Given the description of an element on the screen output the (x, y) to click on. 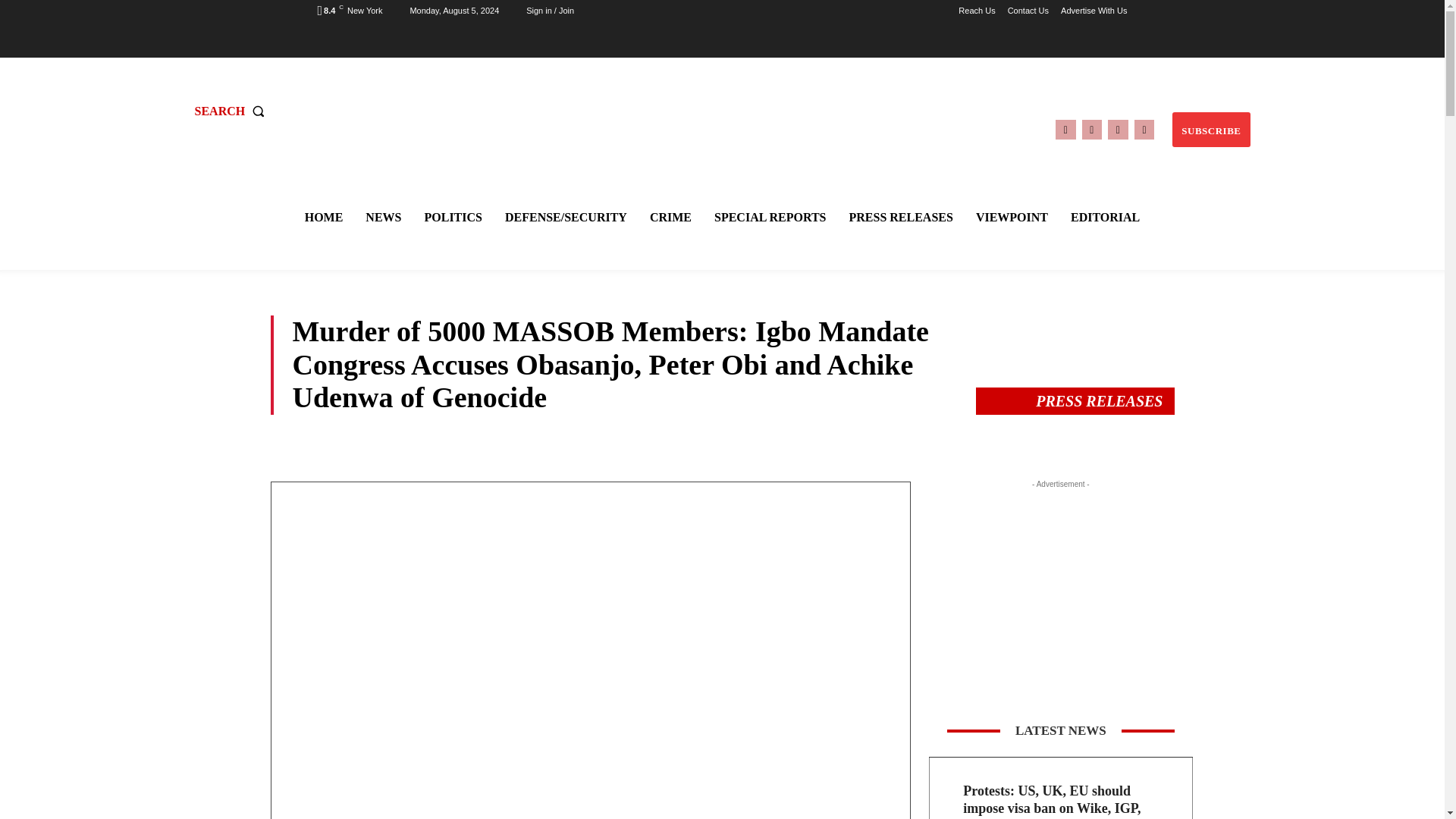
Subscribe (1210, 130)
SEARCH (231, 111)
HOME (323, 217)
Twitter (1118, 129)
Instagram (1091, 129)
SUBSCRIBE (1210, 130)
NEWS (383, 217)
Reach Us (976, 10)
Youtube (1144, 129)
Contact Us (1027, 10)
Advertise With Us (1093, 10)
View all posts in Press Releases (1098, 401)
Impartial Observers (724, 109)
Facebook (1065, 129)
